Given the description of an element on the screen output the (x, y) to click on. 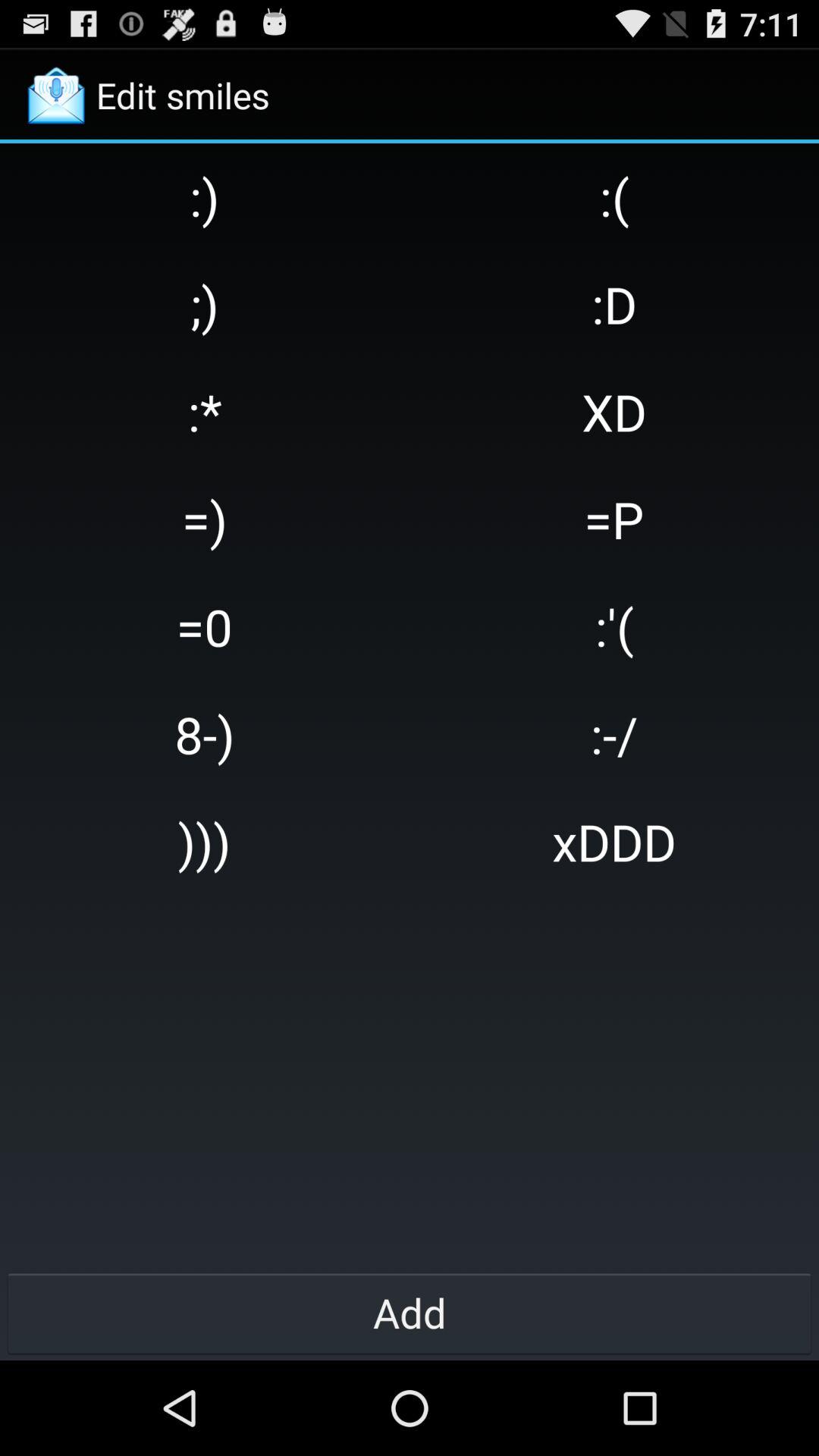
scroll to the add icon (409, 1312)
